Given the description of an element on the screen output the (x, y) to click on. 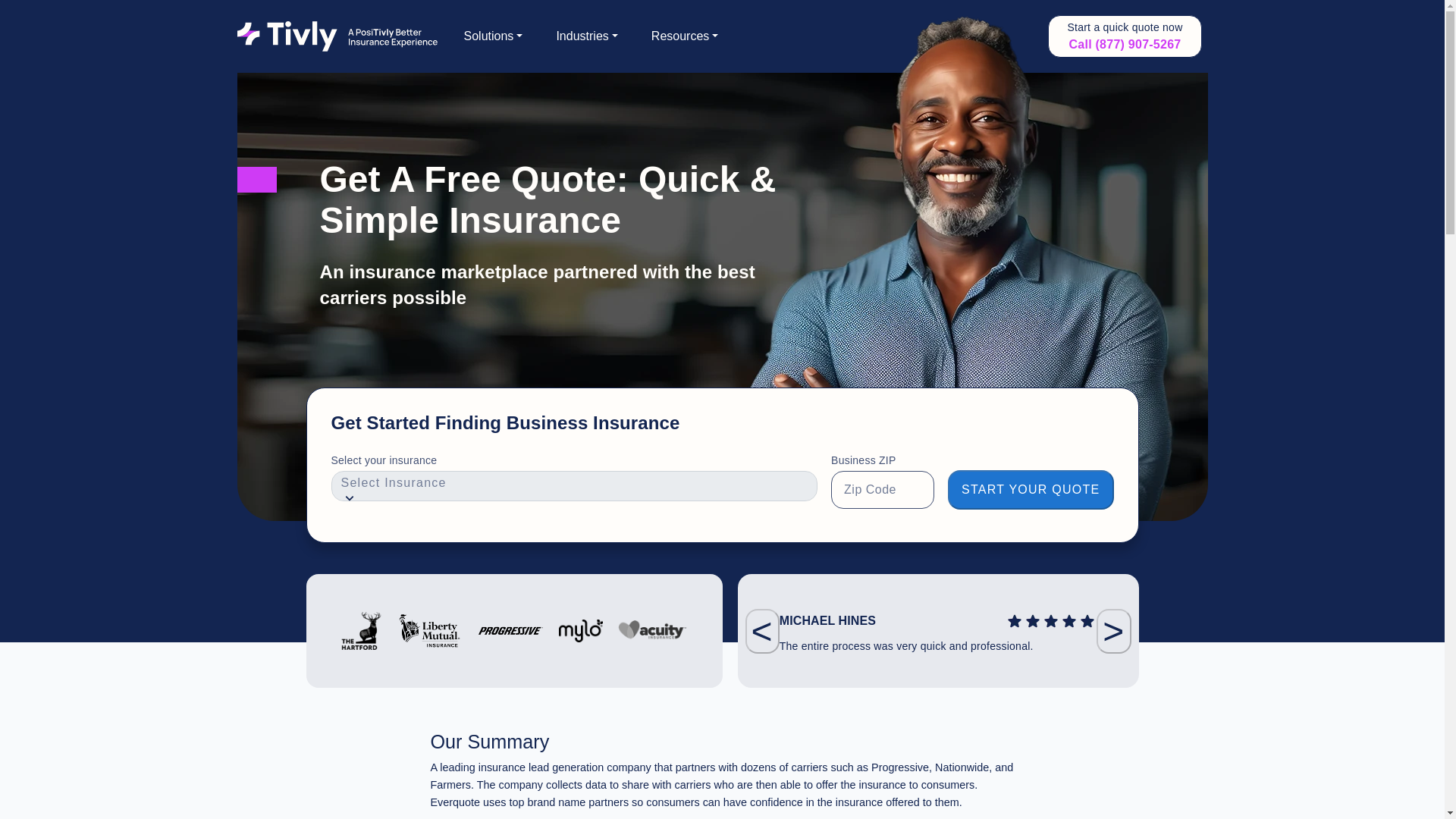
Resources (684, 35)
Solutions (493, 35)
Industries (586, 35)
